Given the description of an element on the screen output the (x, y) to click on. 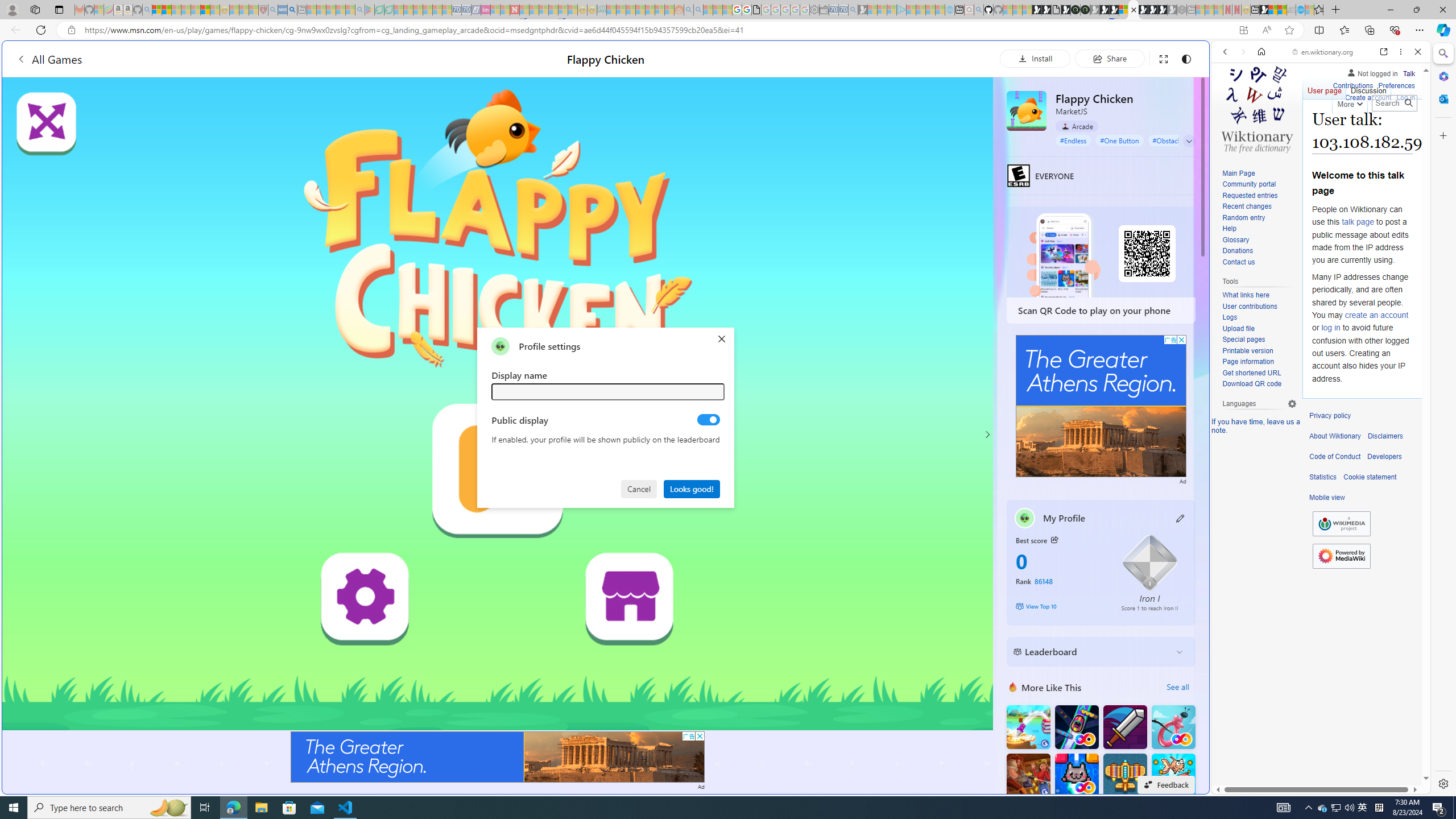
Cancel (639, 488)
Developers (1384, 456)
Bluey: Let's Play! - Apps on Google Play - Sleeping (369, 9)
Local - MSN - Sleeping (253, 9)
Fish Merge FRVR (1173, 775)
Cheap Hotels - Save70.com - Sleeping (466, 9)
More (1349, 101)
Actions for this site (1370, 583)
Close Customize pane (1442, 135)
